Given the description of an element on the screen output the (x, y) to click on. 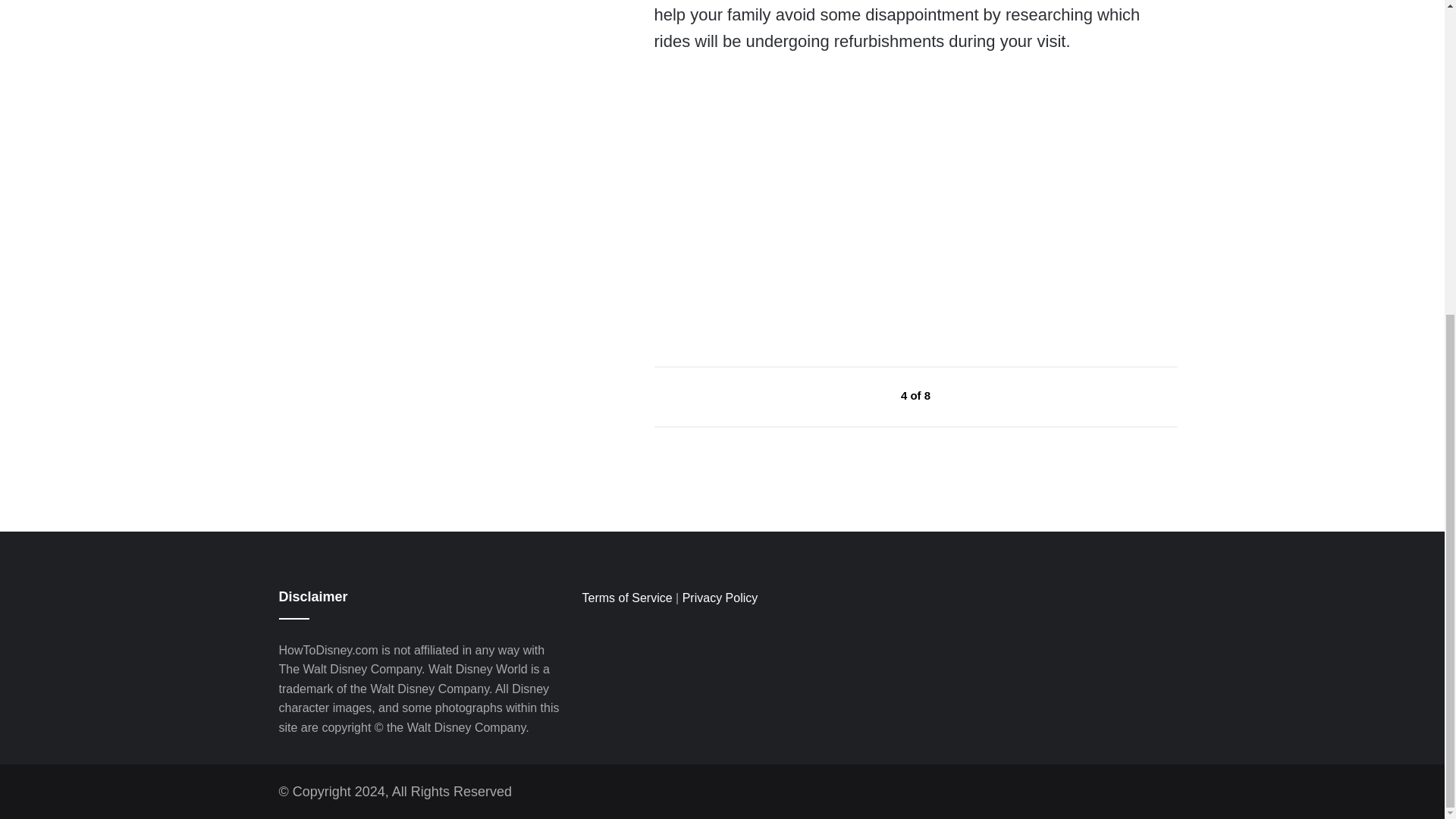
right (966, 395)
Left (866, 395)
Terms of Service (625, 597)
Privacy Policy (720, 597)
